Given the description of an element on the screen output the (x, y) to click on. 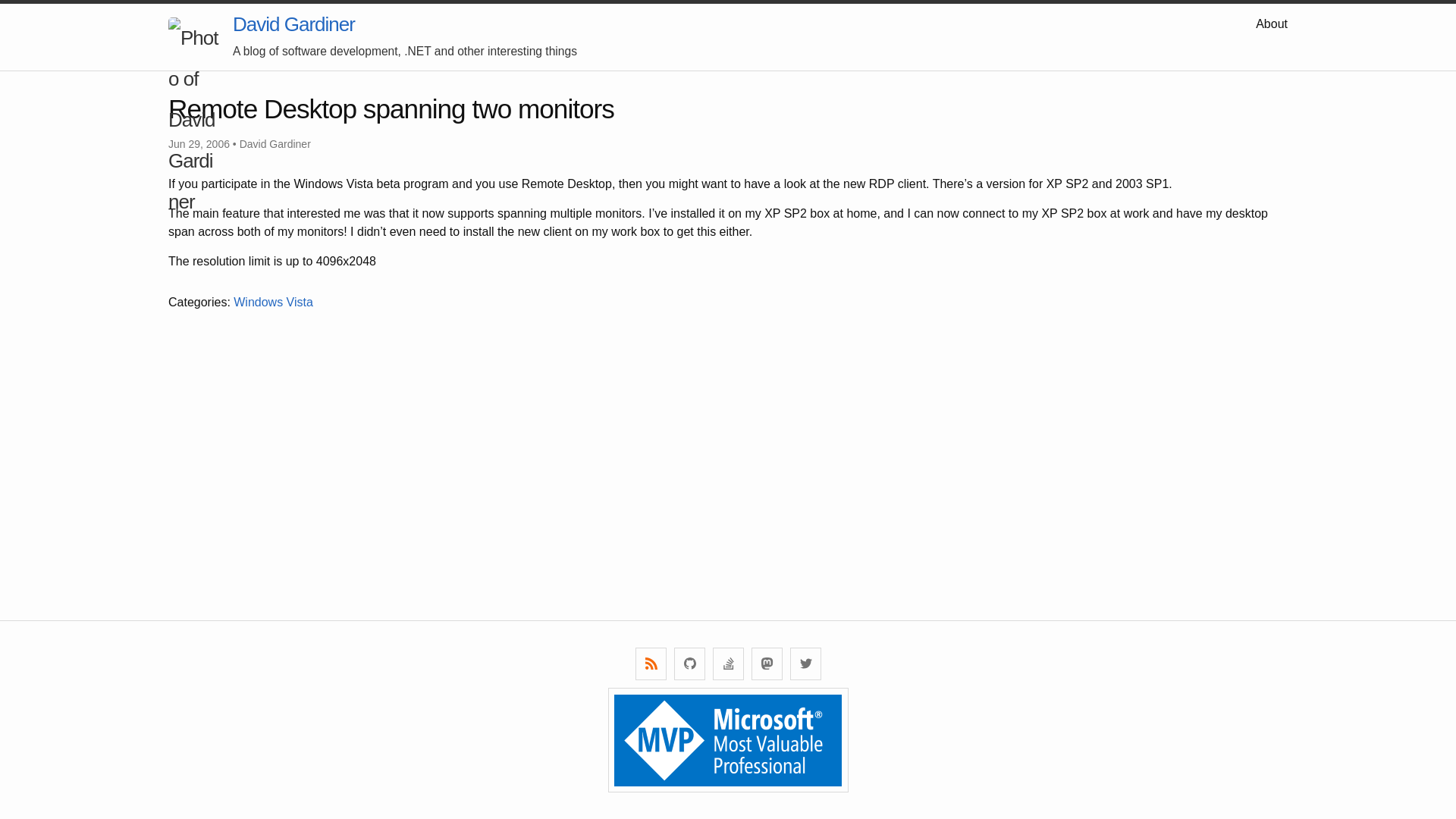
David Gardiner Element type: text (293, 23)
DavidRGardiner Element type: hover (765, 663)
Advertisement Element type: hover (623, 429)
DavidRGardiner Element type: hover (805, 663)
Windows Vista Element type: text (273, 301)
About Element type: text (1271, 23)
25702/david-gardiner Element type: hover (727, 663)
flcdrg Element type: hover (688, 663)
RSS Feed Element type: hover (650, 663)
